Given the description of an element on the screen output the (x, y) to click on. 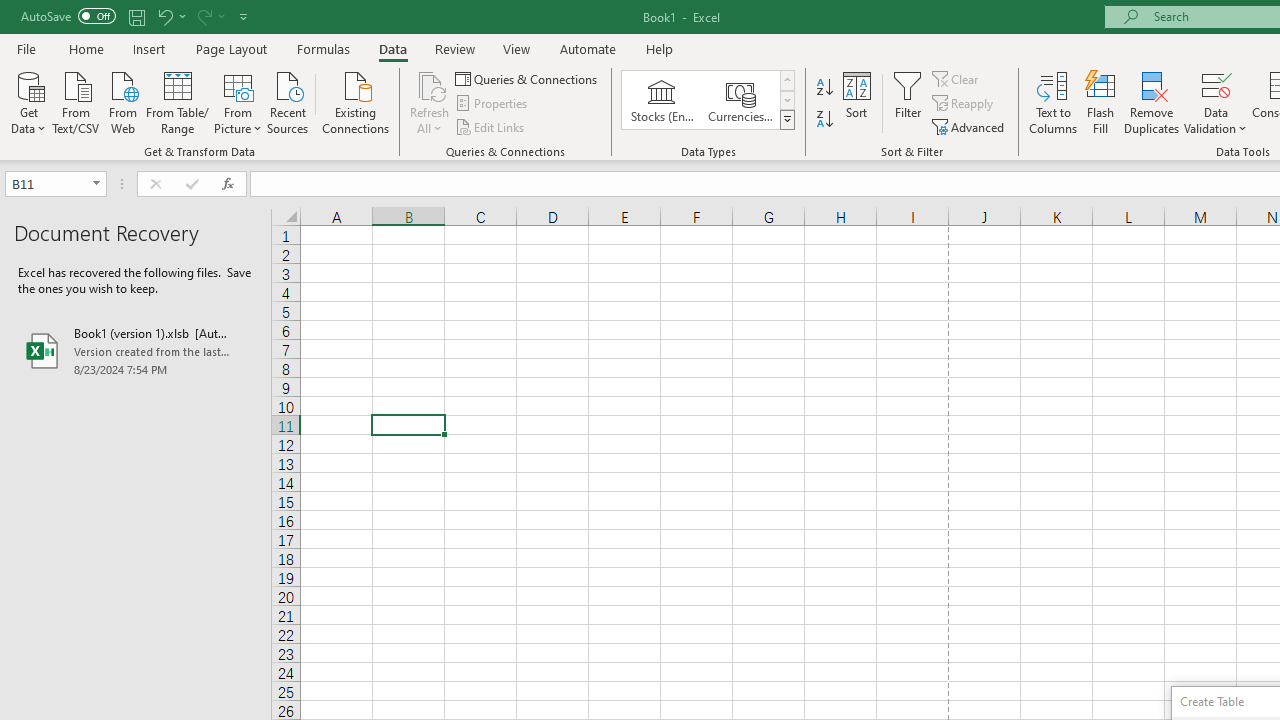
From Picture (238, 101)
Sort A to Z (824, 87)
Sort Z to A (824, 119)
